Given the description of an element on the screen output the (x, y) to click on. 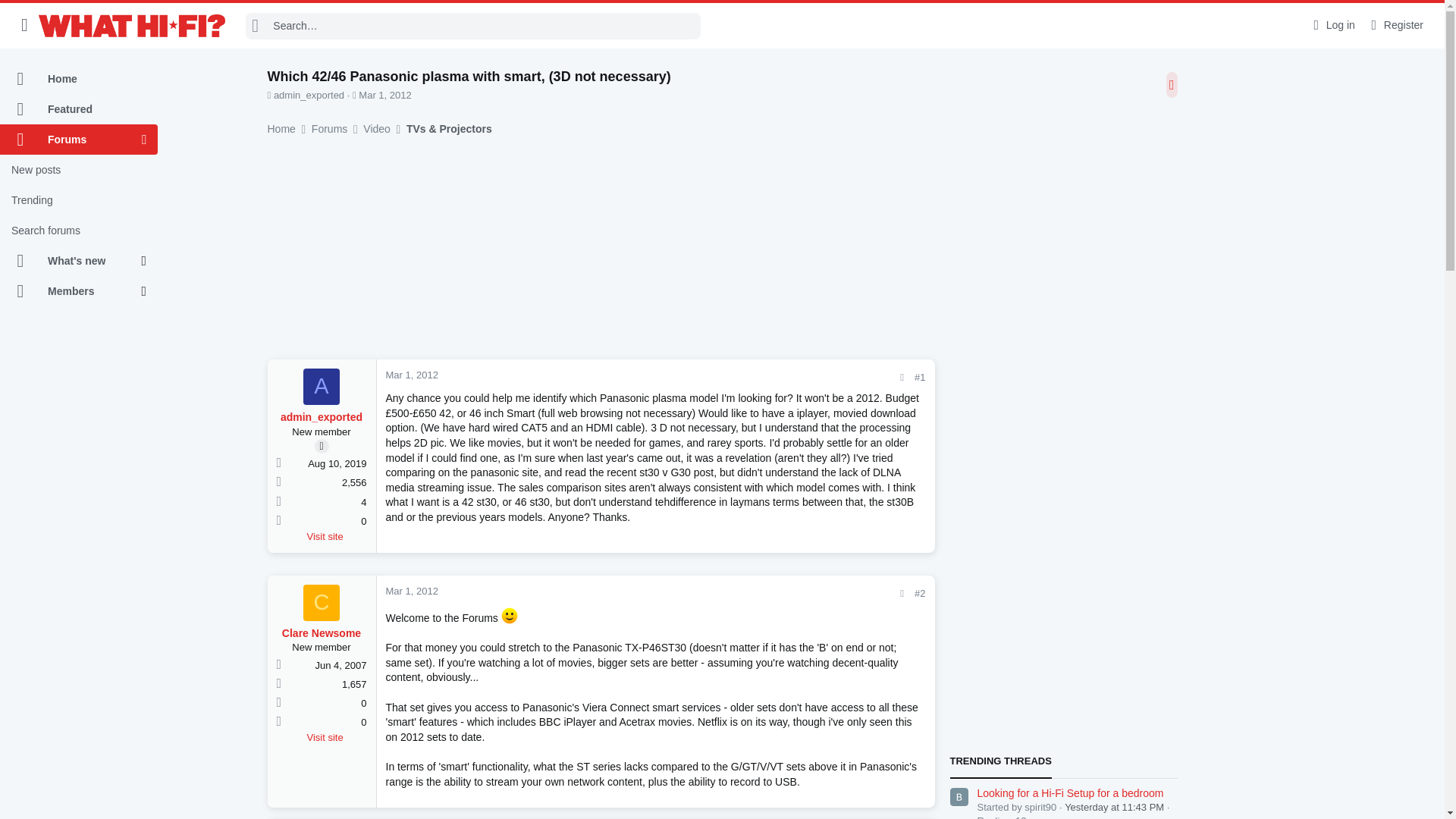
What's new (70, 260)
Mar 1, 2012 at 1:15 PM (384, 94)
Mar 1, 2012 at 1:15 PM (411, 374)
Forums (70, 139)
New posts (78, 169)
Mar 1, 2012 at 2:45 PM (411, 591)
Log in (1332, 24)
Register (1395, 24)
Home (78, 78)
Search forums (78, 230)
